Given the description of an element on the screen output the (x, y) to click on. 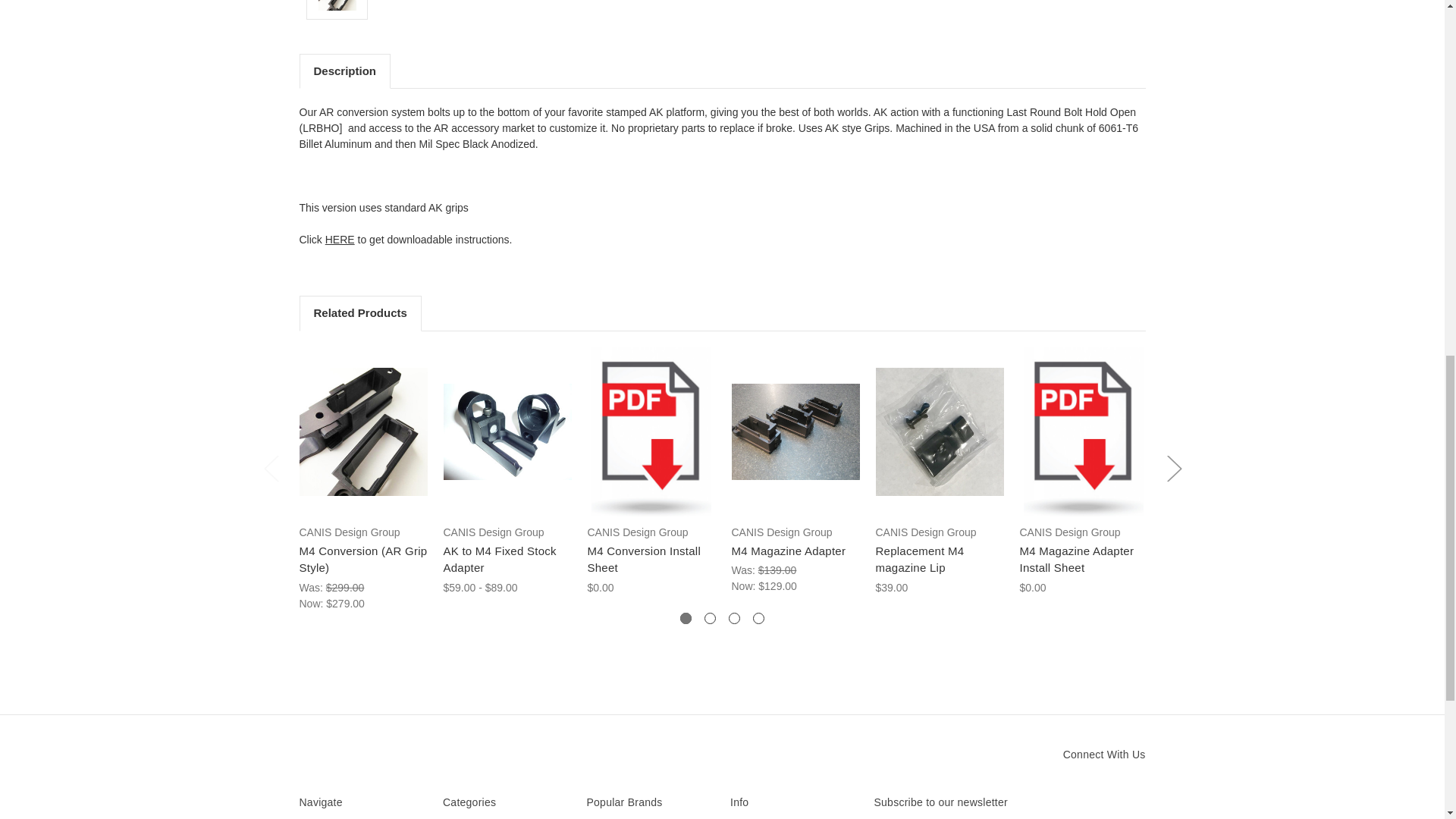
Description (344, 70)
Replacement M4 magazine Lip (939, 431)
HERE (339, 239)
AK to M4 Fixed Stock Adapter (506, 431)
Related Products (359, 313)
M4 Magazine Adapter (794, 431)
